Given the description of an element on the screen output the (x, y) to click on. 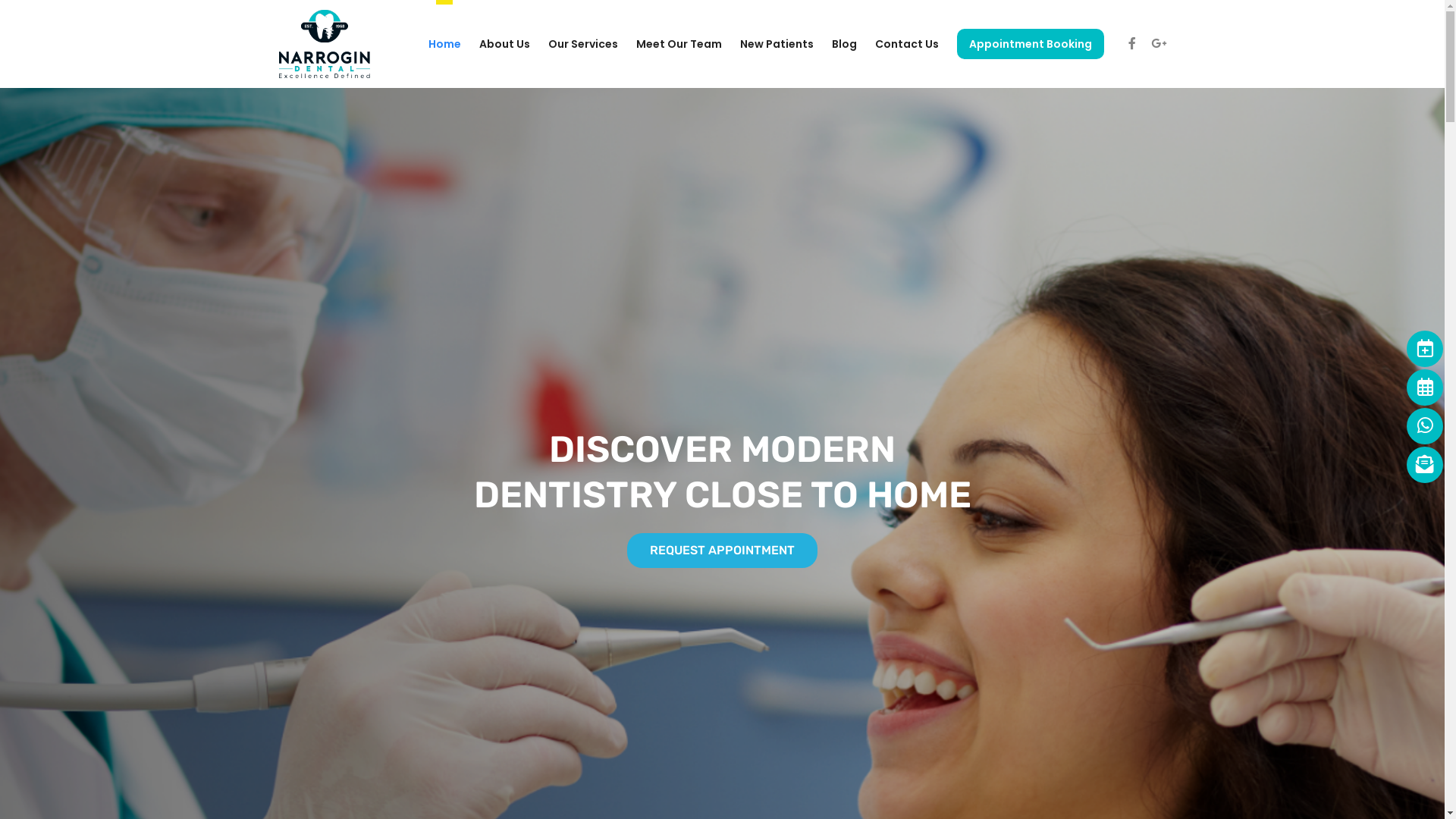
REQUEST APPOINTMENT Element type: text (722, 550)
New Patients Element type: text (776, 43)
Blog Element type: text (843, 43)
About Us Element type: text (504, 43)
Appointment Booking Element type: text (1030, 43)
Home Element type: text (443, 43)
Our Services Element type: text (582, 43)
Contact Us Element type: text (906, 43)
Meet Our Team Element type: text (678, 43)
